Given the description of an element on the screen output the (x, y) to click on. 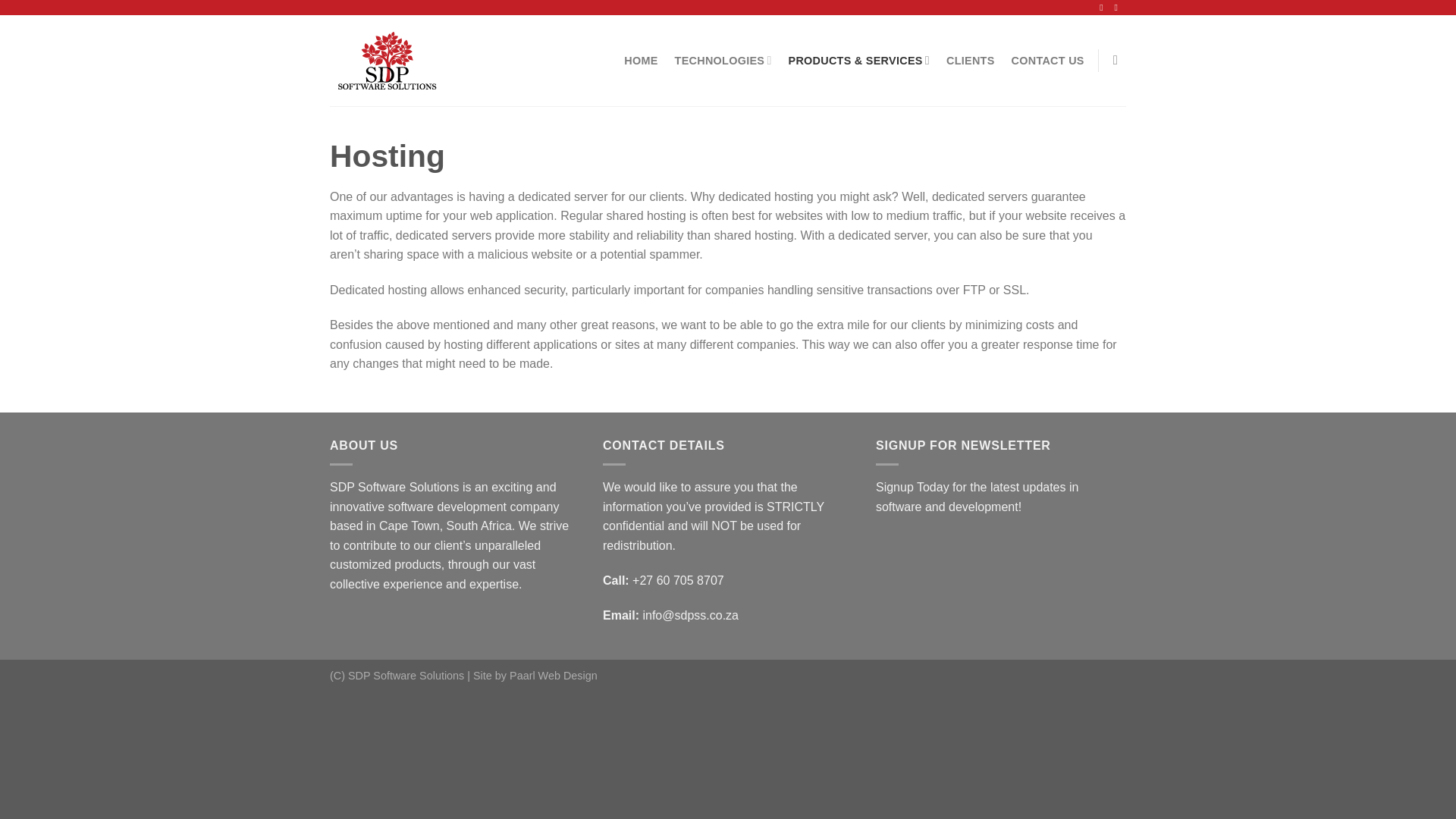
CONTACT US (1047, 60)
SDP Software Solutions - Software Solutions Provider (405, 60)
CLIENTS (970, 60)
Paarl Web Design (552, 675)
HOME (641, 60)
TECHNOLOGIES (723, 60)
